Given the description of an element on the screen output the (x, y) to click on. 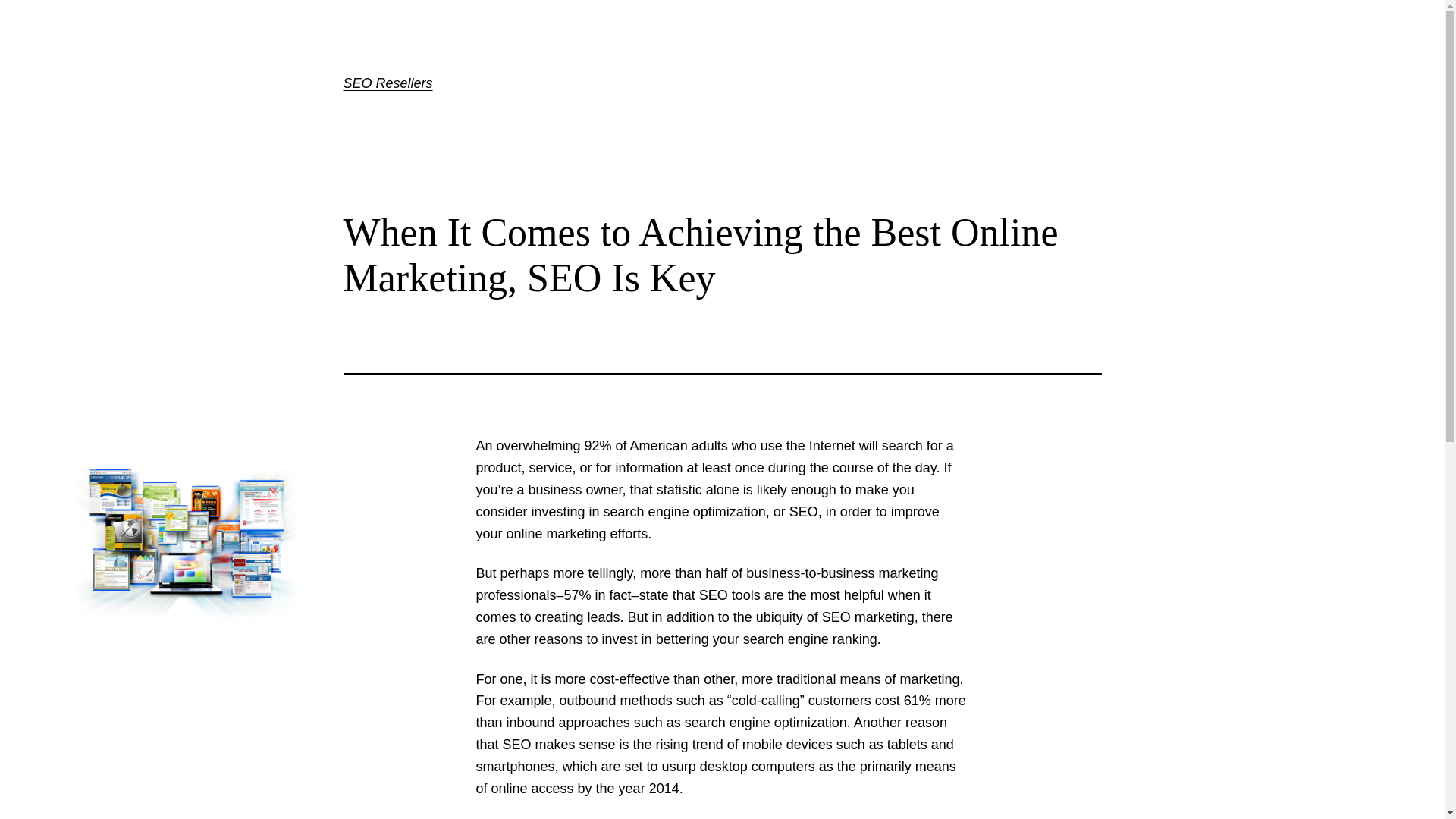
Seo blogs (765, 722)
SEO Resellers (387, 83)
search engine optimization (765, 722)
